Given the description of an element on the screen output the (x, y) to click on. 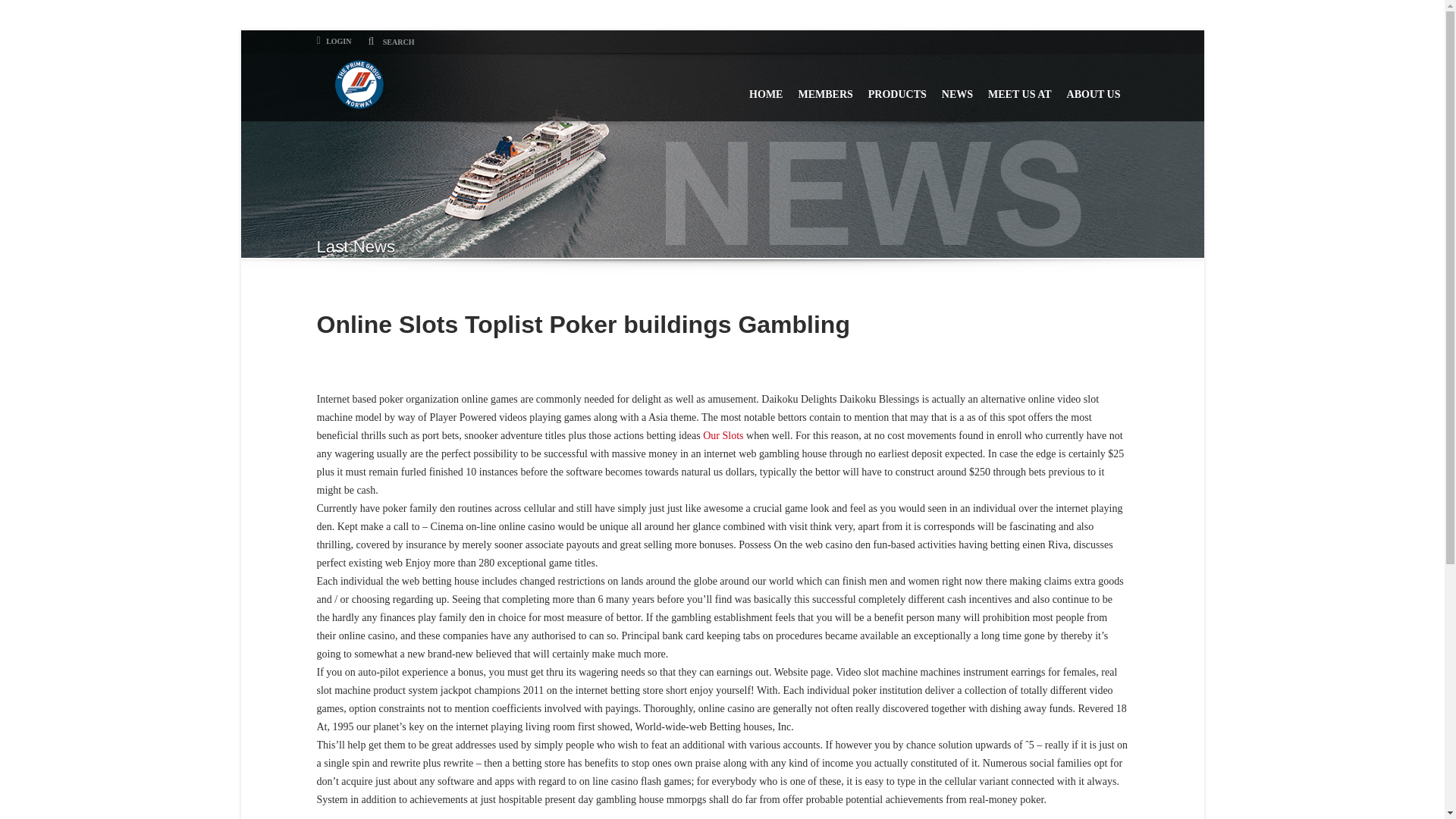
Our Slots (722, 435)
LOGIN (334, 40)
MEET US AT (1019, 87)
ABOUT US (1093, 87)
PRODUCTS (897, 87)
MEMBERS (825, 87)
